Given the description of an element on the screen output the (x, y) to click on. 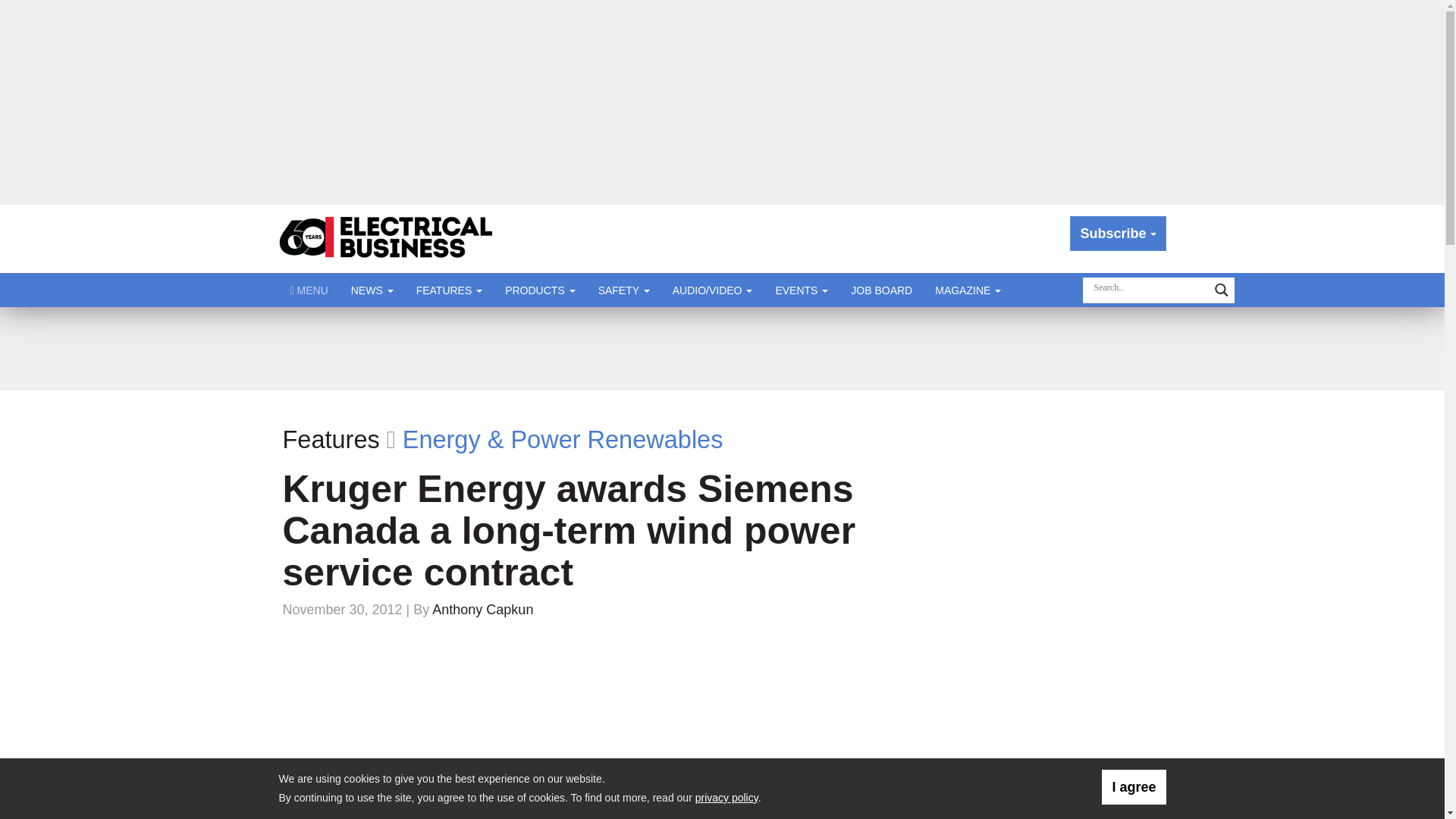
PRODUCTS (539, 289)
NEWS (371, 289)
3rd party ad content (1060, 488)
Subscribe (1118, 233)
Click to show site navigation (309, 289)
3rd party ad content (721, 348)
MENU (309, 289)
SAFETY (623, 289)
FEATURES (449, 289)
3rd party ad content (1060, 705)
Electrical Business (387, 237)
